Given the description of an element on the screen output the (x, y) to click on. 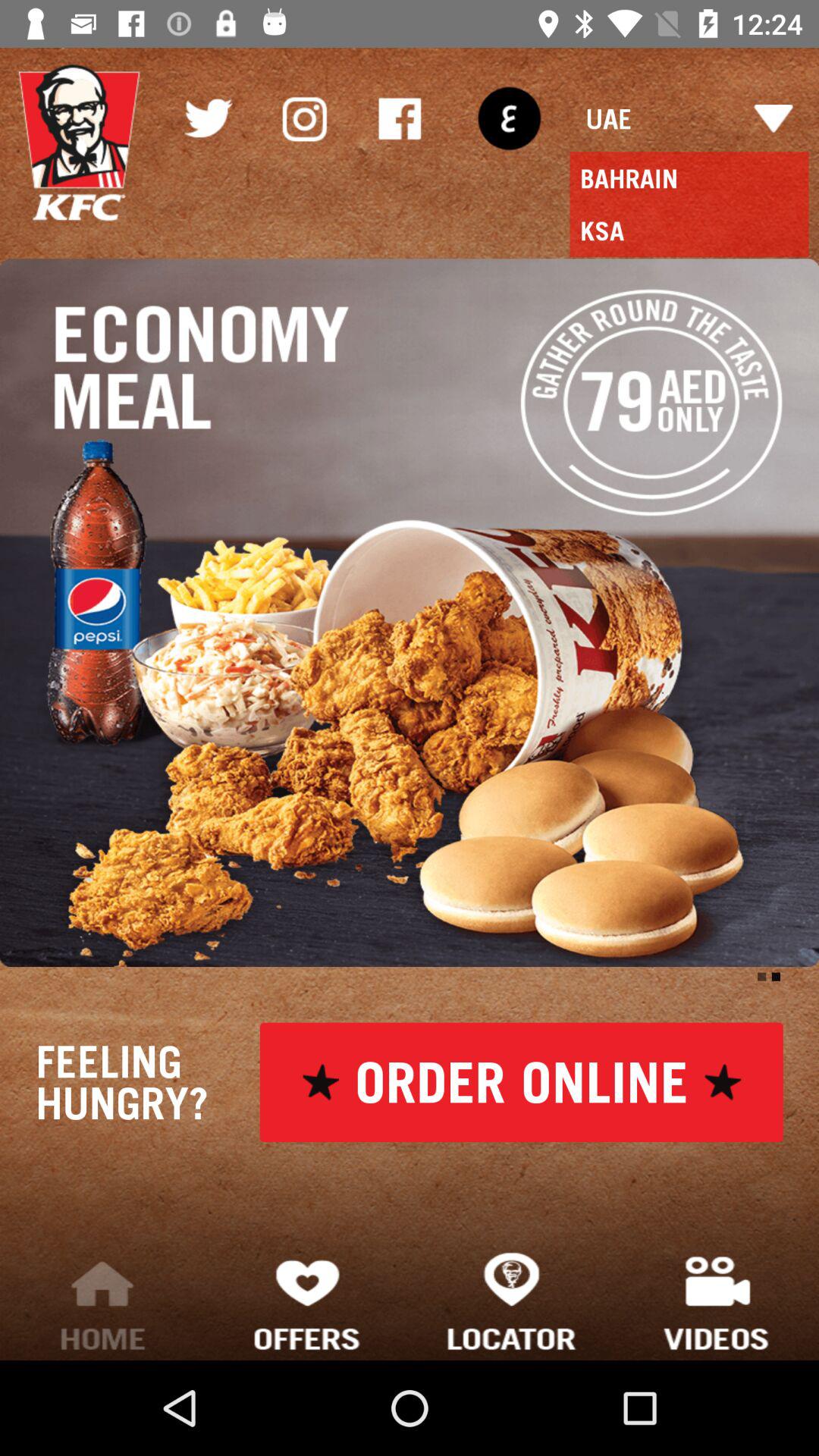
turn off uae icon (688, 118)
